Given the description of an element on the screen output the (x, y) to click on. 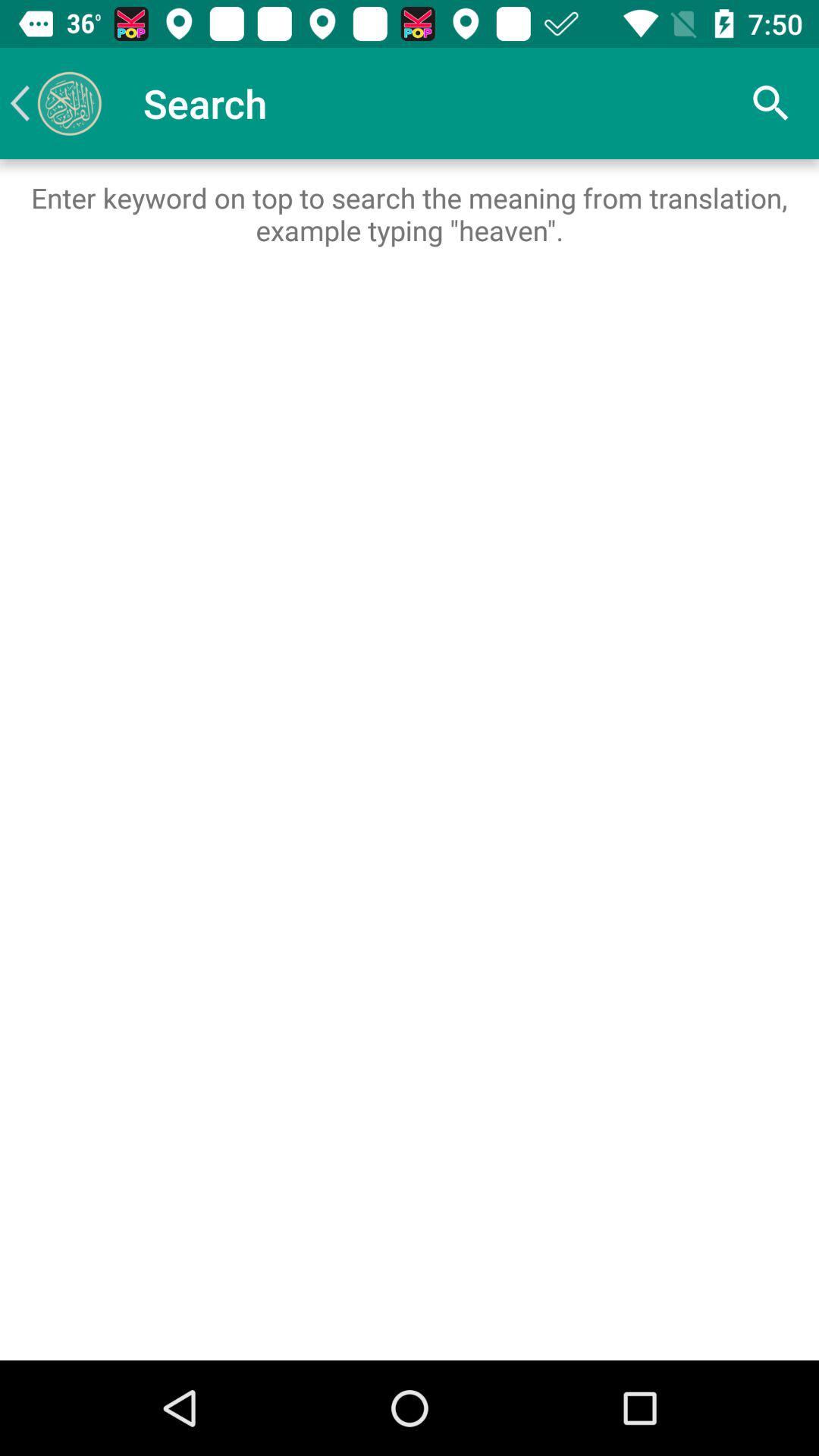
launch icon to the left of search icon (55, 103)
